Given the description of an element on the screen output the (x, y) to click on. 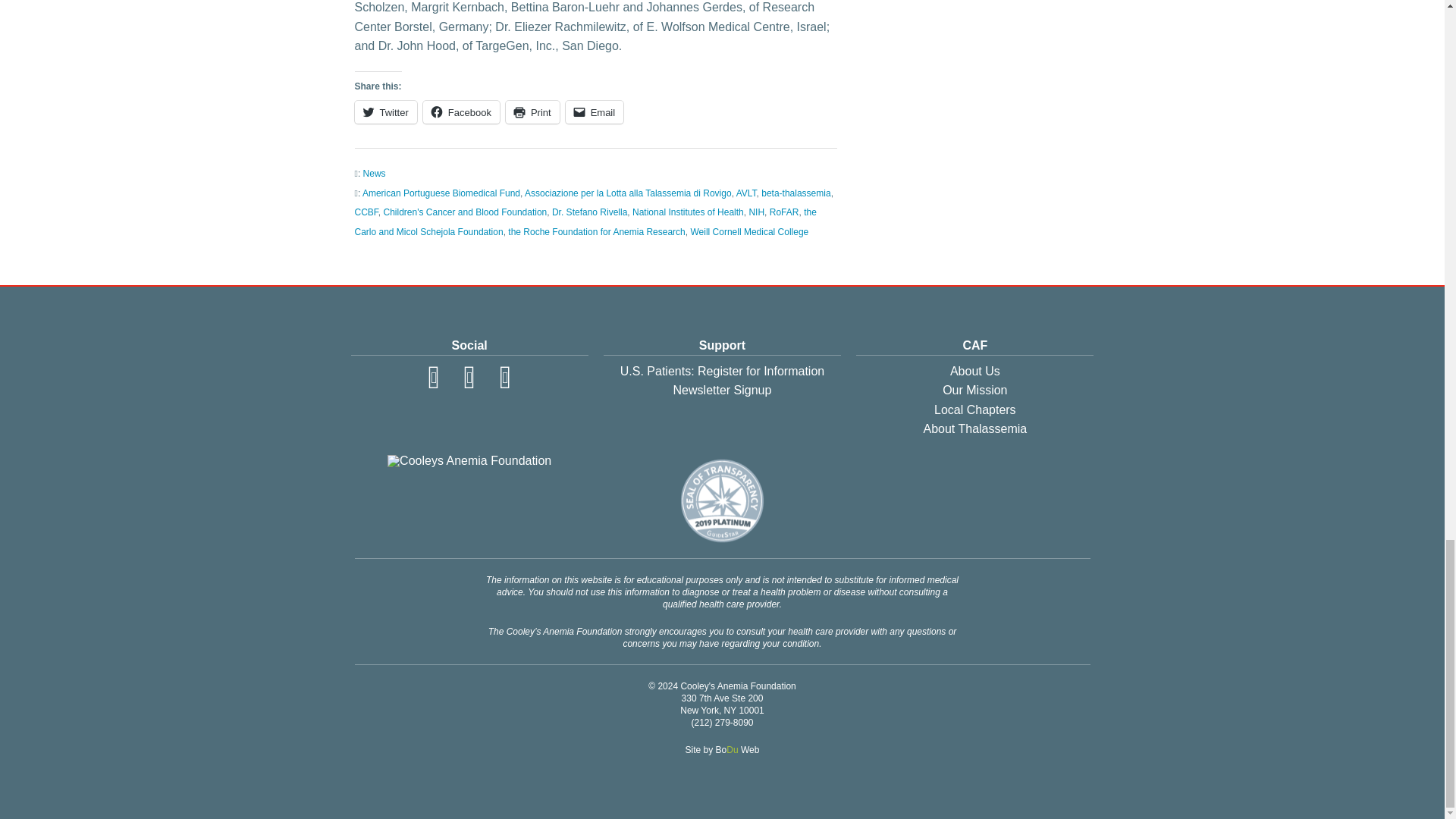
Click to email a link to a friend (595, 111)
Click to share on Twitter (385, 111)
Click to print (532, 111)
Click to share on Facebook (461, 111)
Bodu Web Development - cost effective web site development (738, 749)
